Given the description of an element on the screen output the (x, y) to click on. 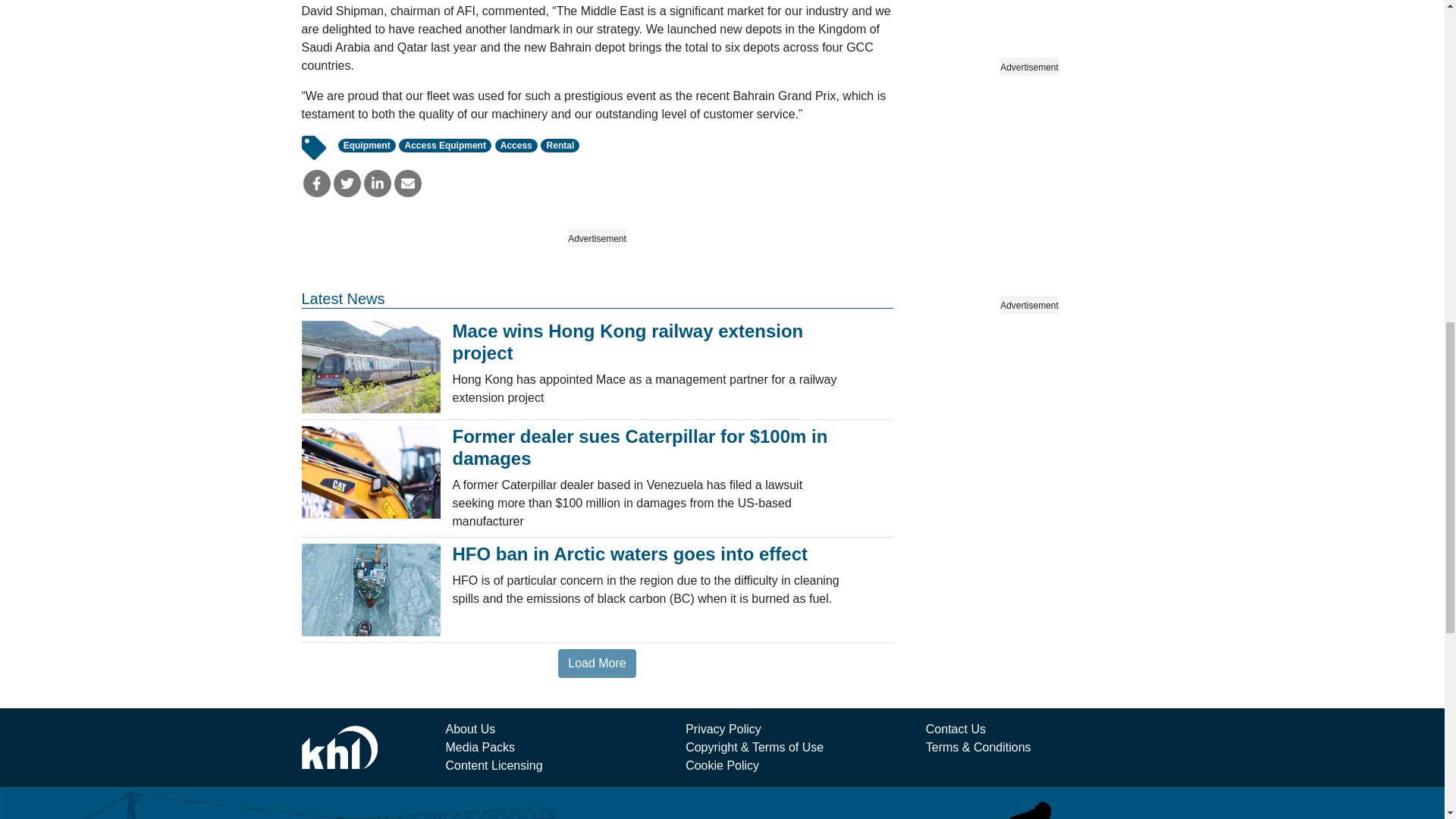
Share this page on Twitter (347, 183)
Share this page on Facebook (316, 183)
Share this page on Linkedin (377, 183)
Share this page via email (408, 183)
